Given the description of an element on the screen output the (x, y) to click on. 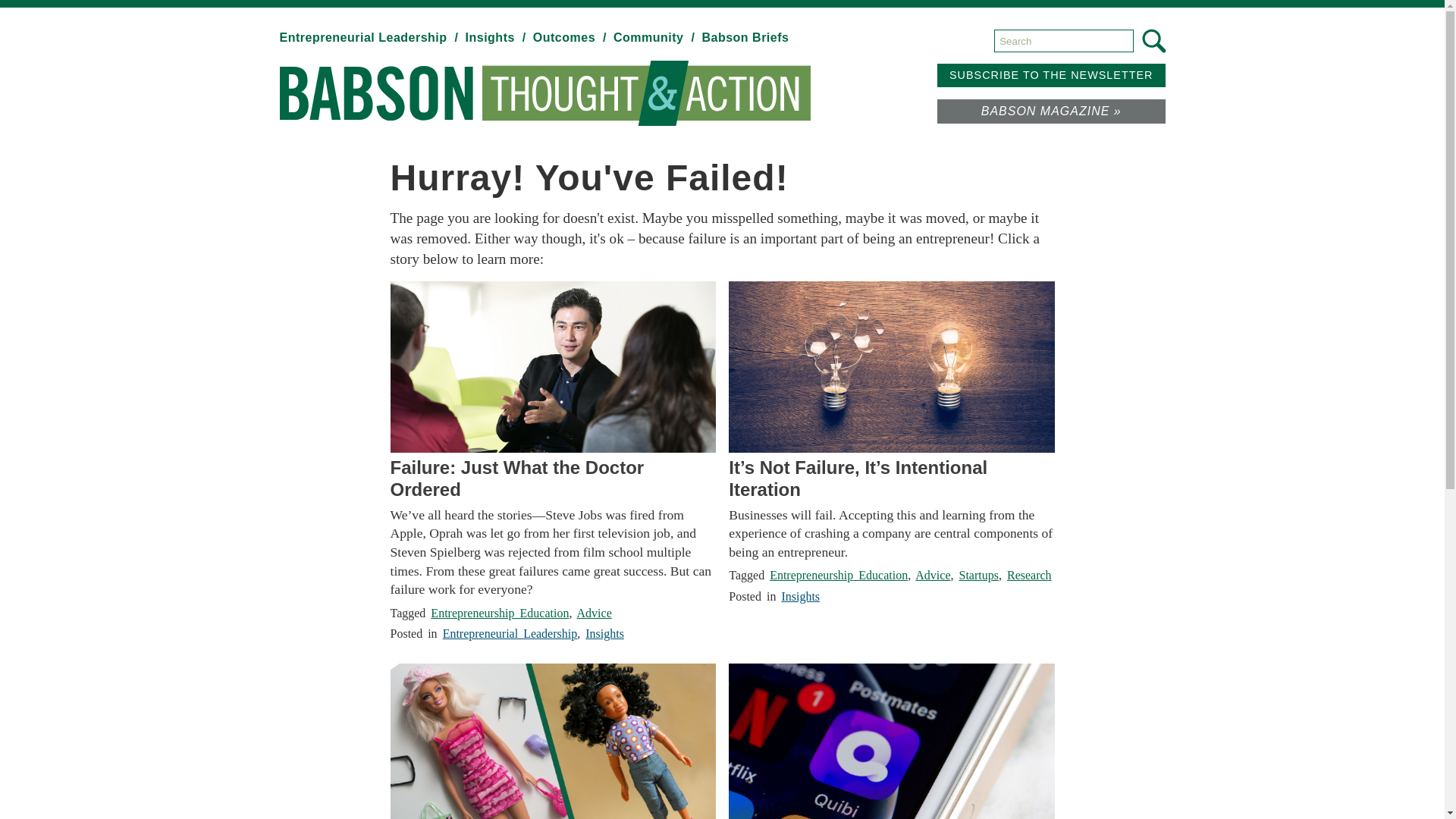
Insights (604, 633)
Subscribe to our newsletter (1051, 74)
Insights (799, 595)
Visit Babson Magazine (1051, 111)
Entrepreneurship Education (838, 574)
Research (1029, 574)
Failure: Just What the Doctor Ordered (552, 479)
Insights (497, 37)
View category: Insights (497, 37)
Entrepreneurial Leadership (370, 37)
Advice (593, 612)
Advice (932, 574)
Startups (977, 574)
Babson Briefs (745, 37)
